Given the description of an element on the screen output the (x, y) to click on. 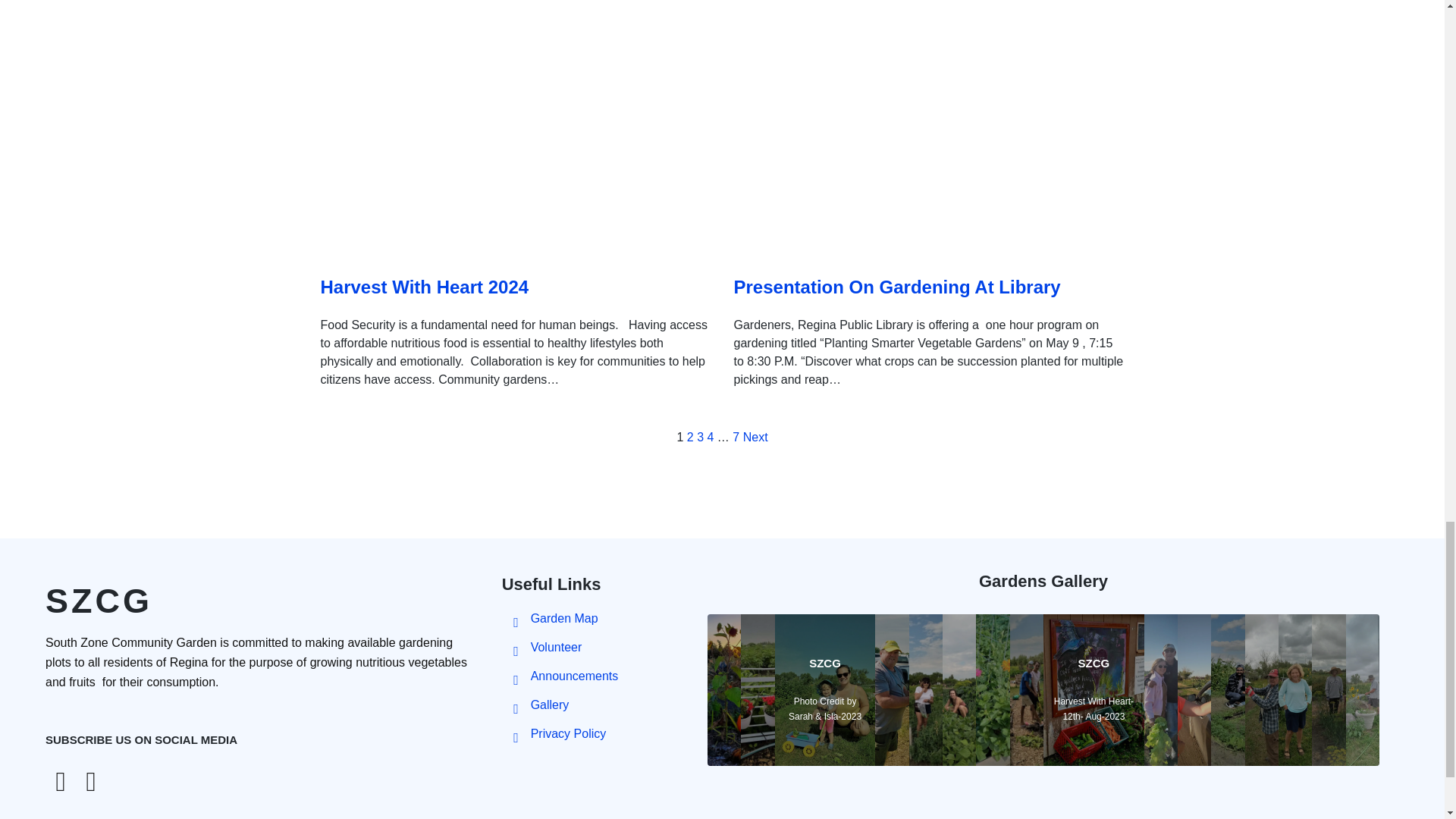
Harvest with Heart 2024 (424, 286)
Next (755, 436)
Harvest With Heart 2024 (424, 286)
Presentation on Gardening at Library (897, 286)
Presentation On Gardening At Library (897, 286)
